Given the description of an element on the screen output the (x, y) to click on. 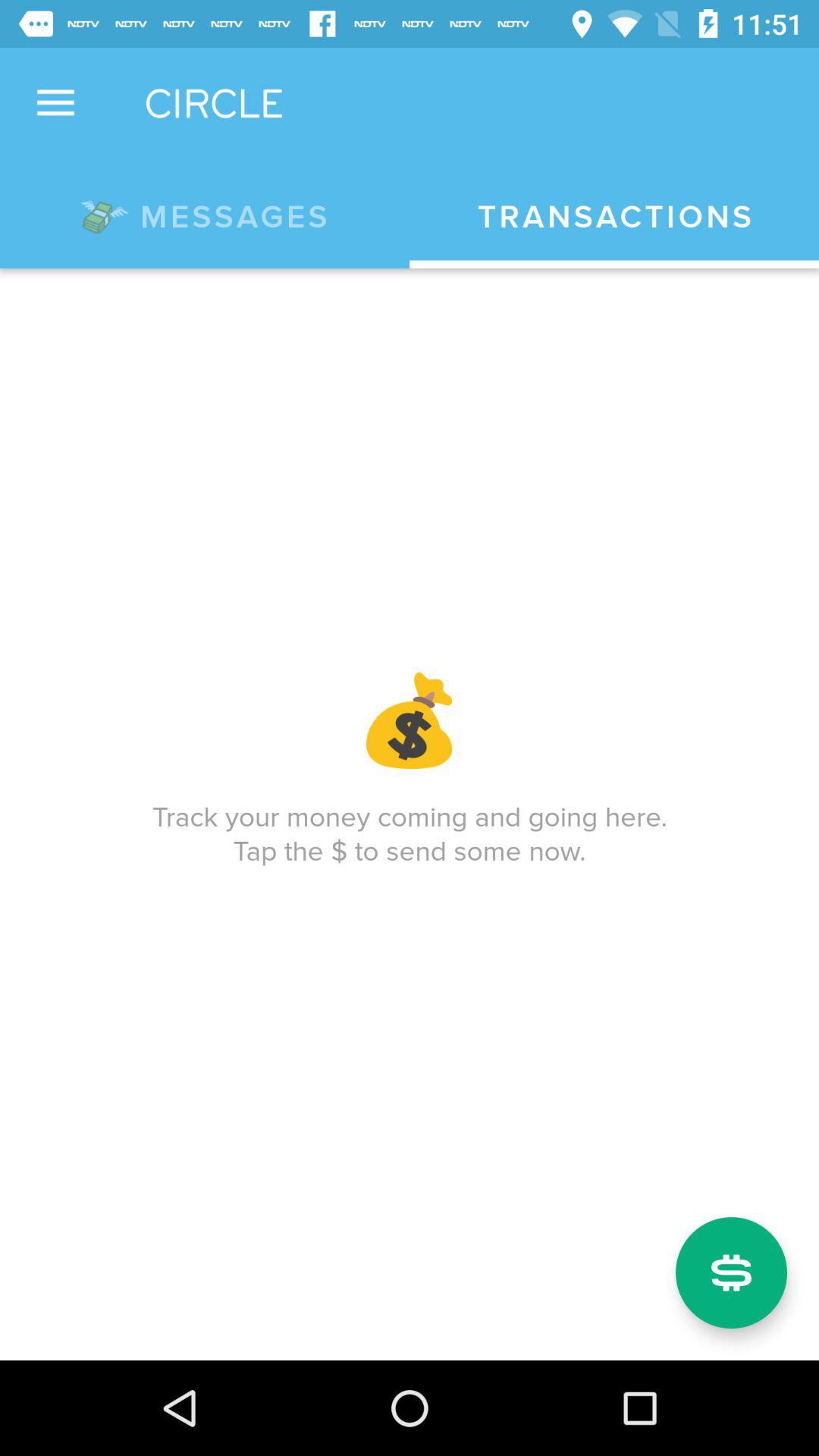
turn off transactions app (614, 217)
